Given the description of an element on the screen output the (x, y) to click on. 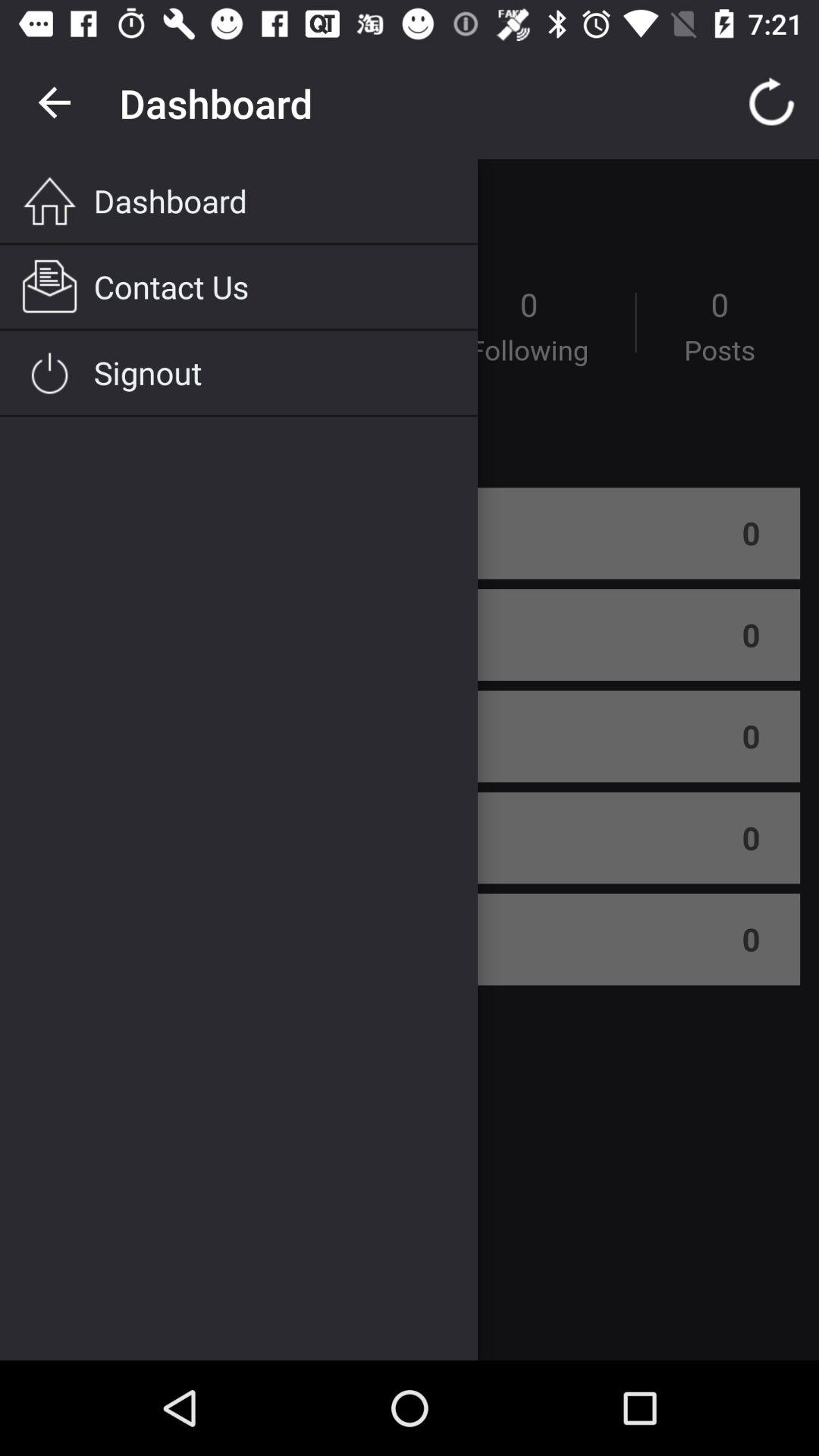
menu to access main areas (409, 759)
